Given the description of an element on the screen output the (x, y) to click on. 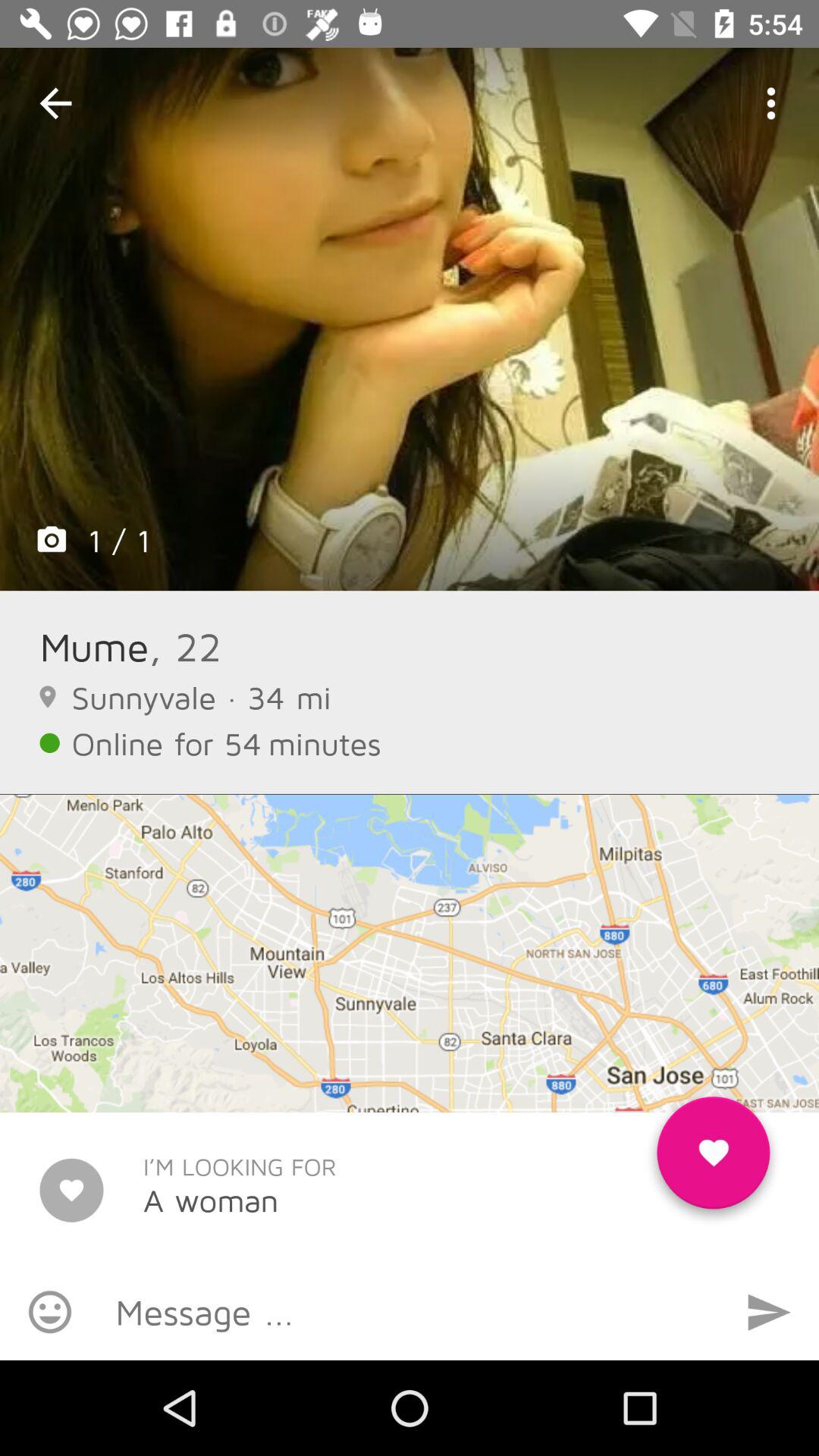
like this persons profile (713, 1158)
